Given the description of an element on the screen output the (x, y) to click on. 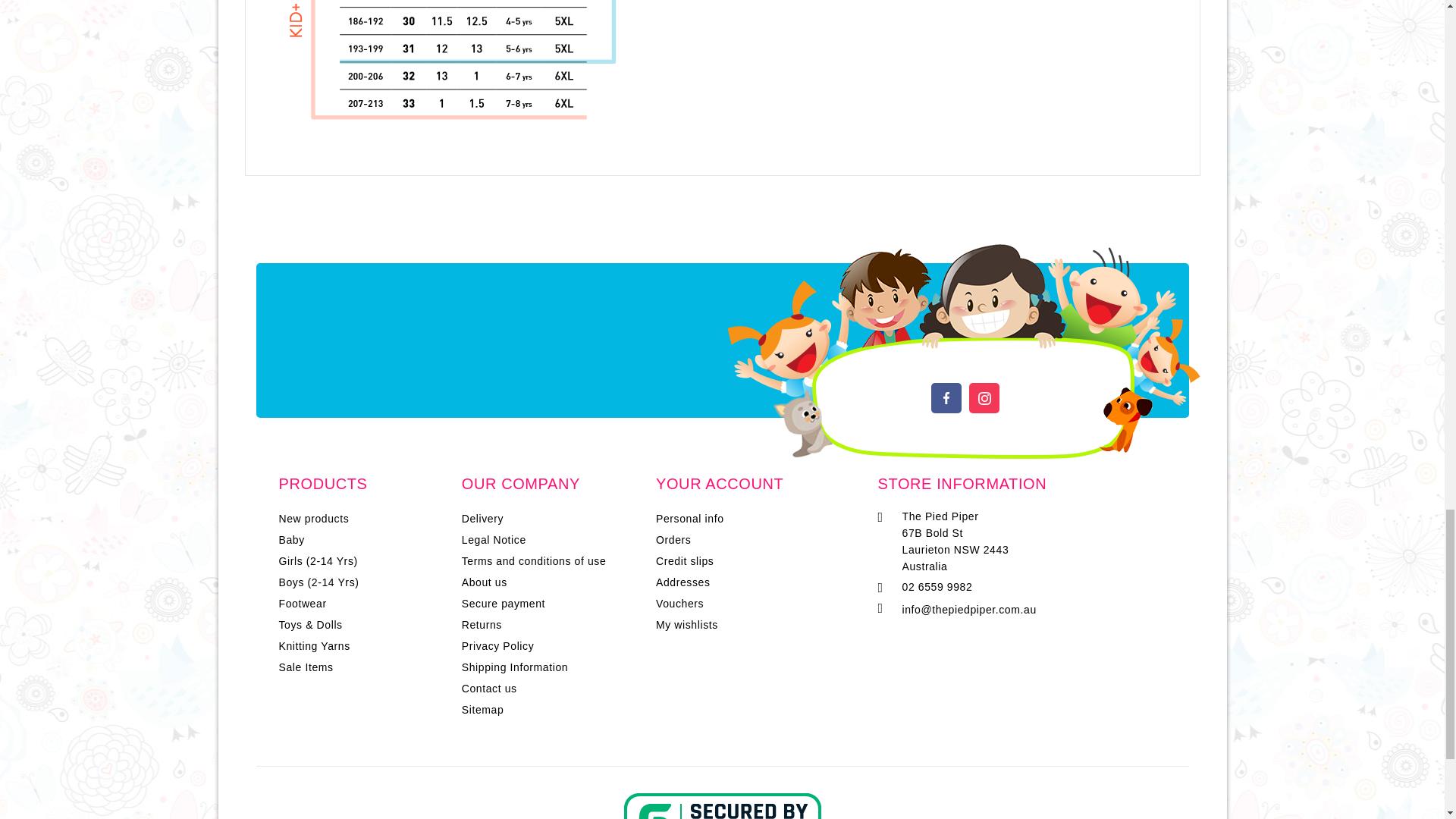
Vouchers (679, 603)
My wishlists (686, 624)
Addresses (683, 582)
Orders (673, 539)
Credit slips (684, 561)
Personal info (689, 518)
